Given the description of an element on the screen output the (x, y) to click on. 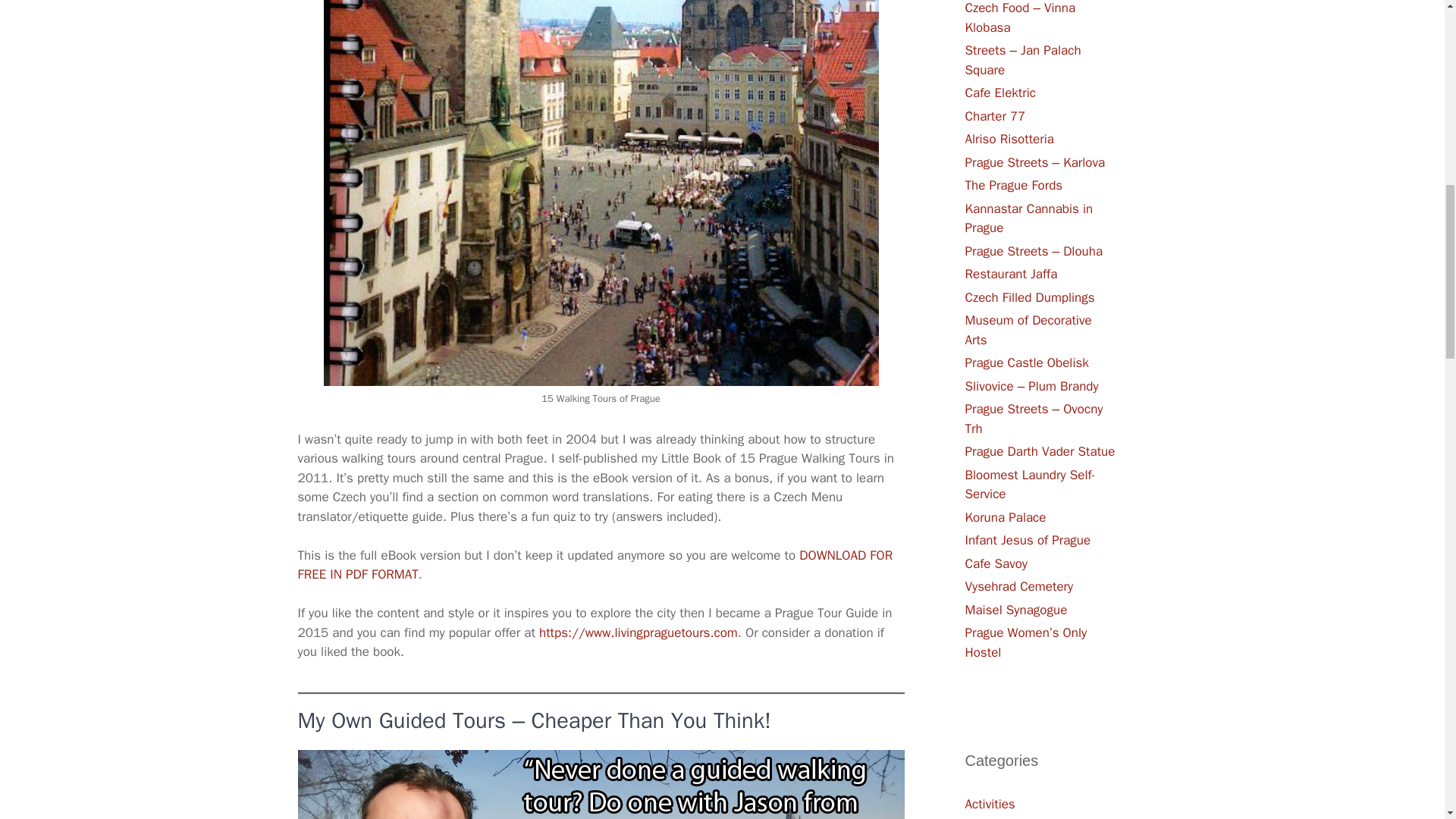
Scroll back to top (1406, 720)
